Given the description of an element on the screen output the (x, y) to click on. 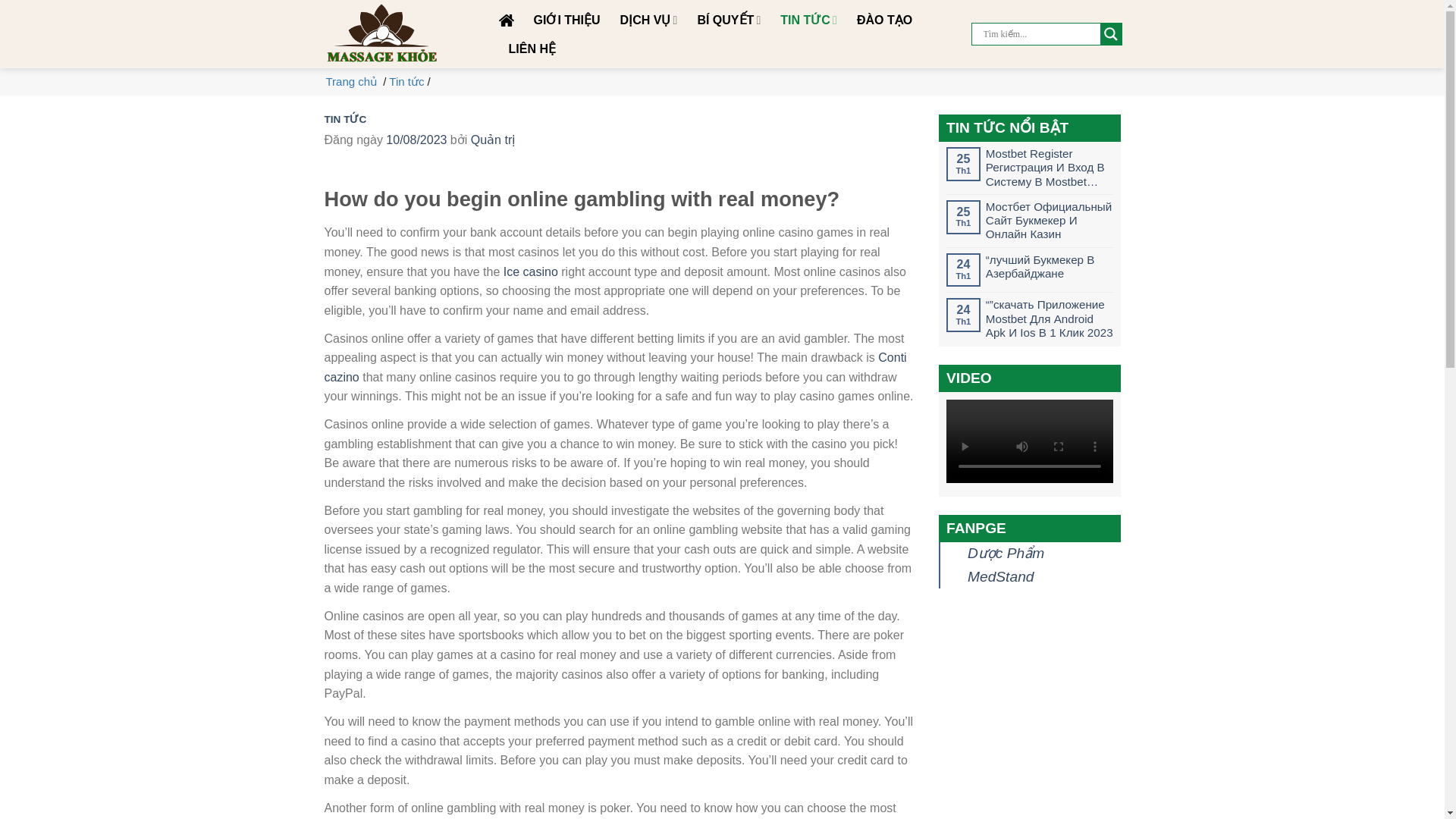
Category Name (405, 81)
Ice casino (530, 271)
Conti cazino (615, 367)
